Given the description of an element on the screen output the (x, y) to click on. 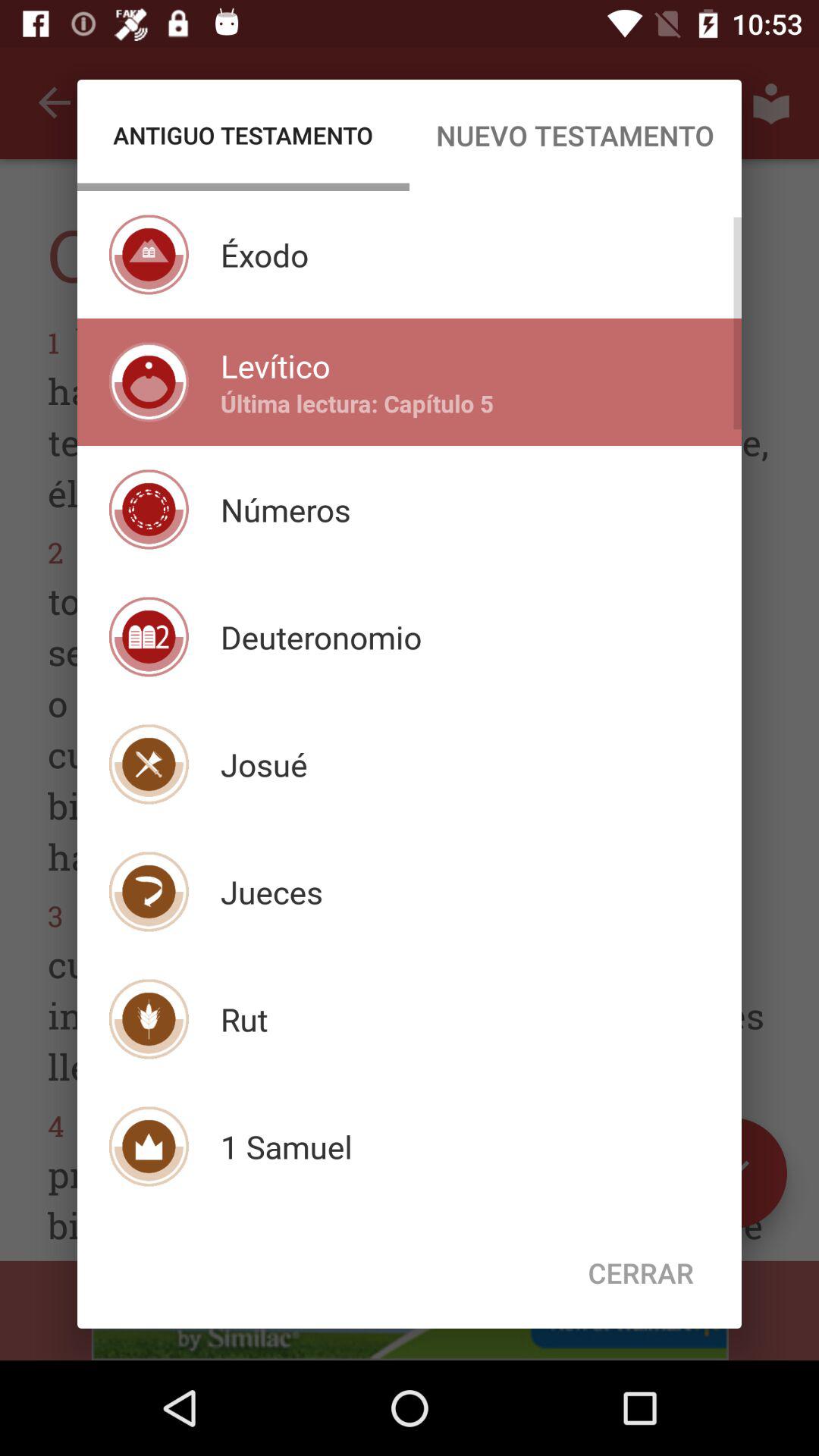
tap cerrar at the bottom right corner (640, 1272)
